Given the description of an element on the screen output the (x, y) to click on. 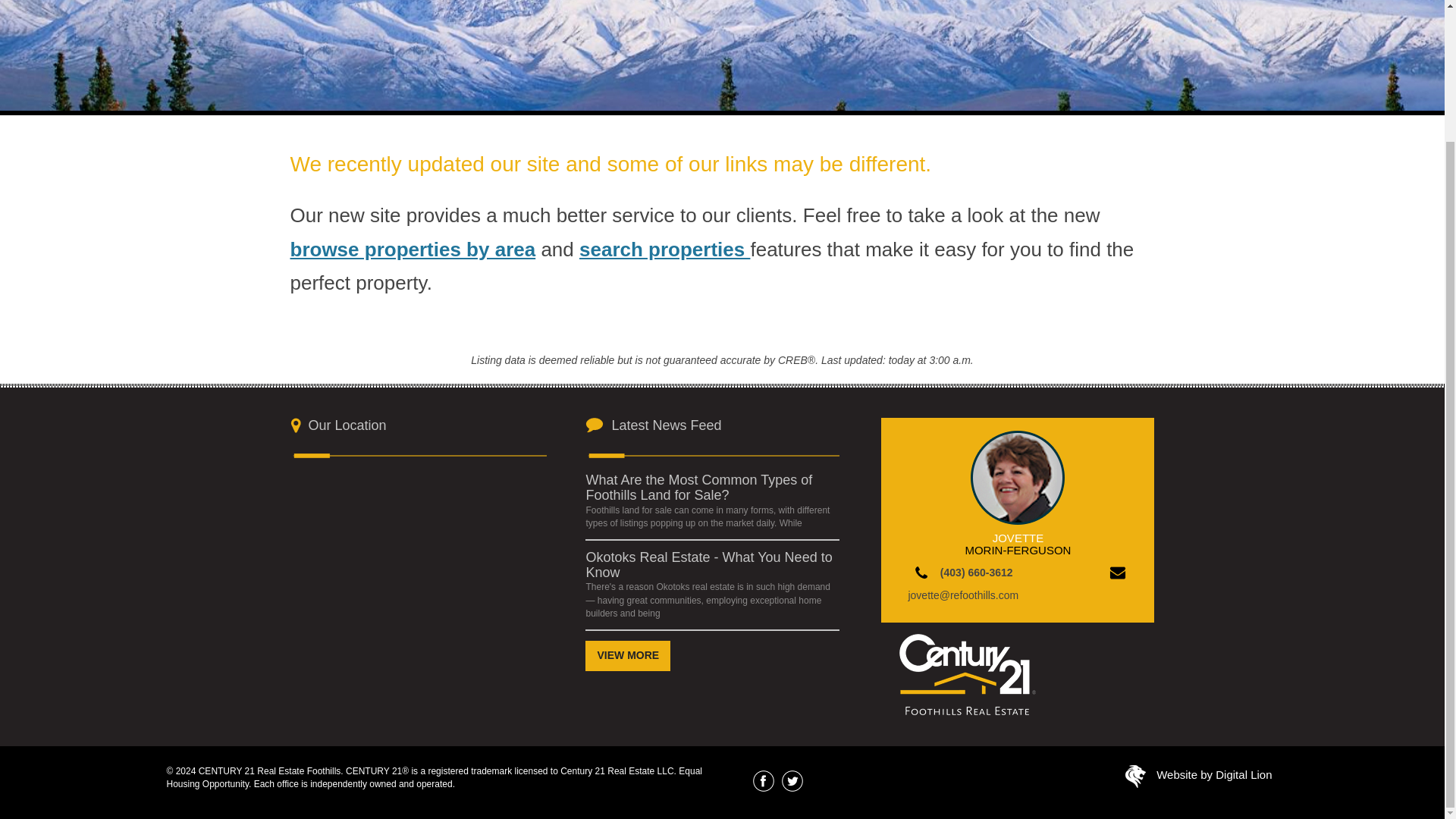
VIEW MORE (627, 655)
browse properties by area (412, 249)
Website by Digital Lion (1213, 774)
Real Estate Website Development (1135, 779)
search properties (664, 249)
Real Estate Website Development (1213, 774)
